Given the description of an element on the screen output the (x, y) to click on. 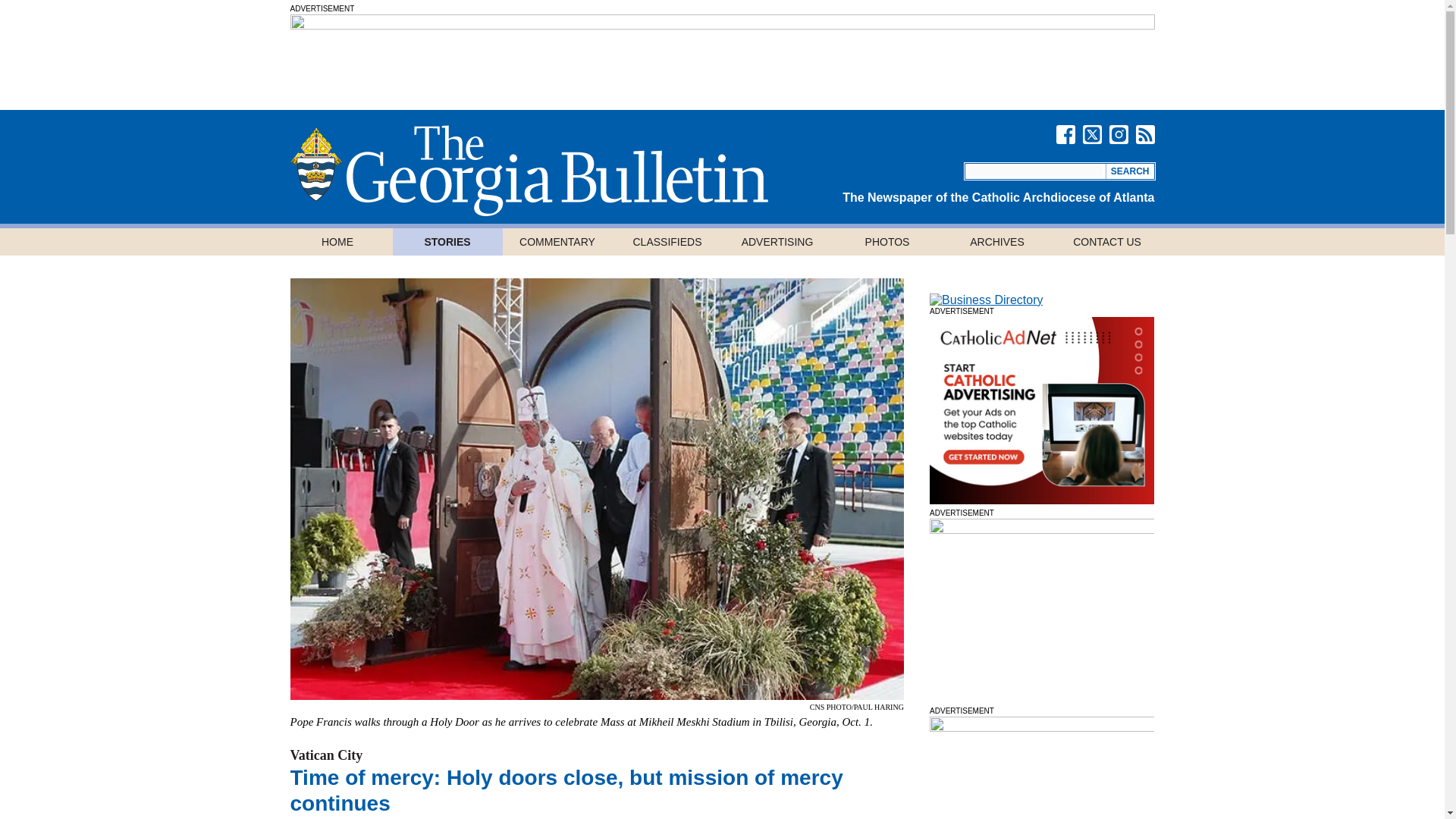
Follow us on Twitter (1092, 134)
Follow us on Instagram (1117, 134)
Find us on Facebook (1064, 134)
Search (1129, 171)
CLASSIFIEDS (667, 241)
STORIES (447, 241)
Grab our RSS Feed (1144, 134)
HOME (336, 241)
ADVERTISING (776, 241)
COMMENTARY (556, 241)
Read more articles from Vatican City (325, 754)
Georgia Bulletin (528, 170)
Search (1129, 171)
